Given the description of an element on the screen output the (x, y) to click on. 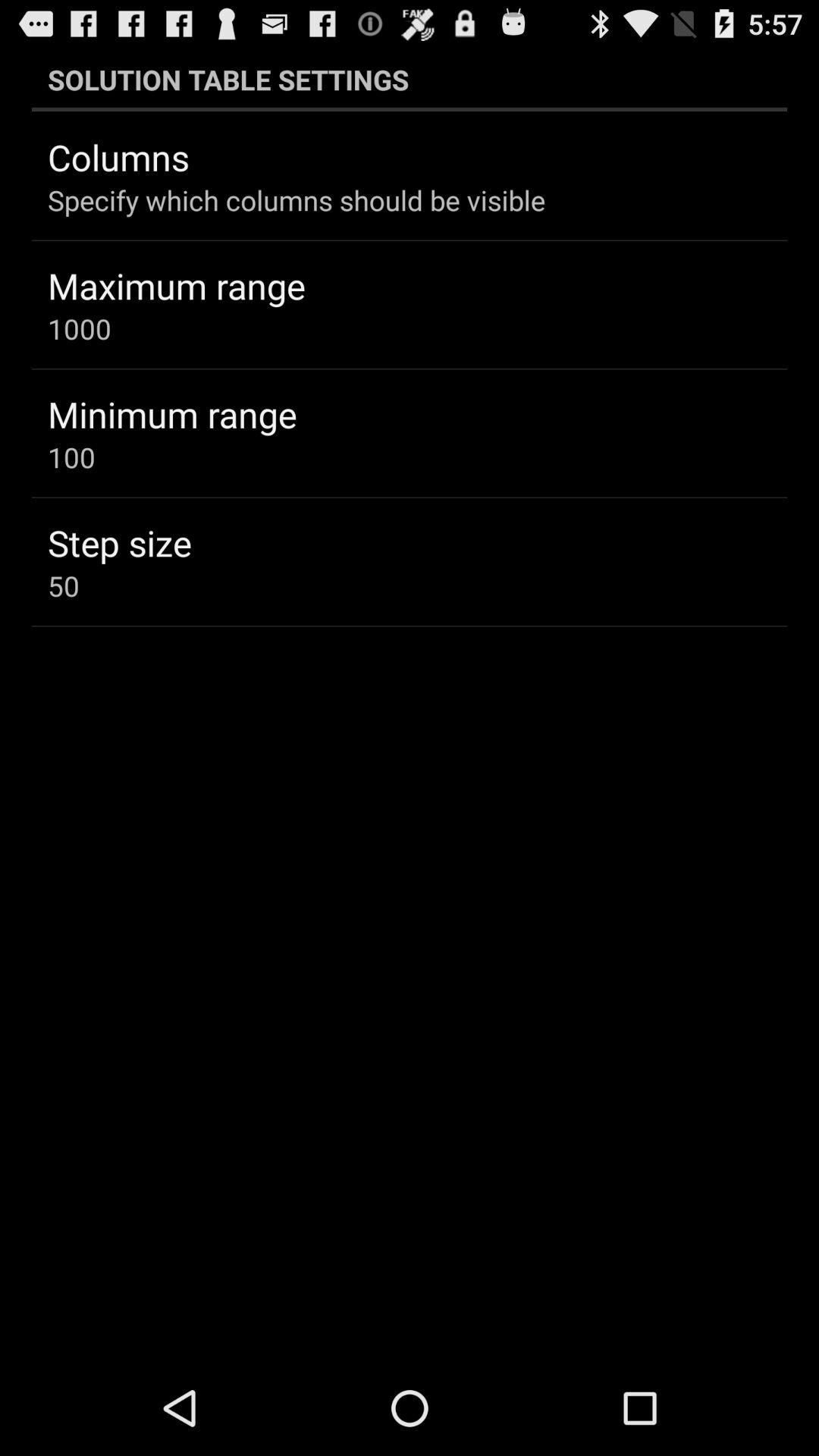
turn on solution table settings app (409, 79)
